Given the description of an element on the screen output the (x, y) to click on. 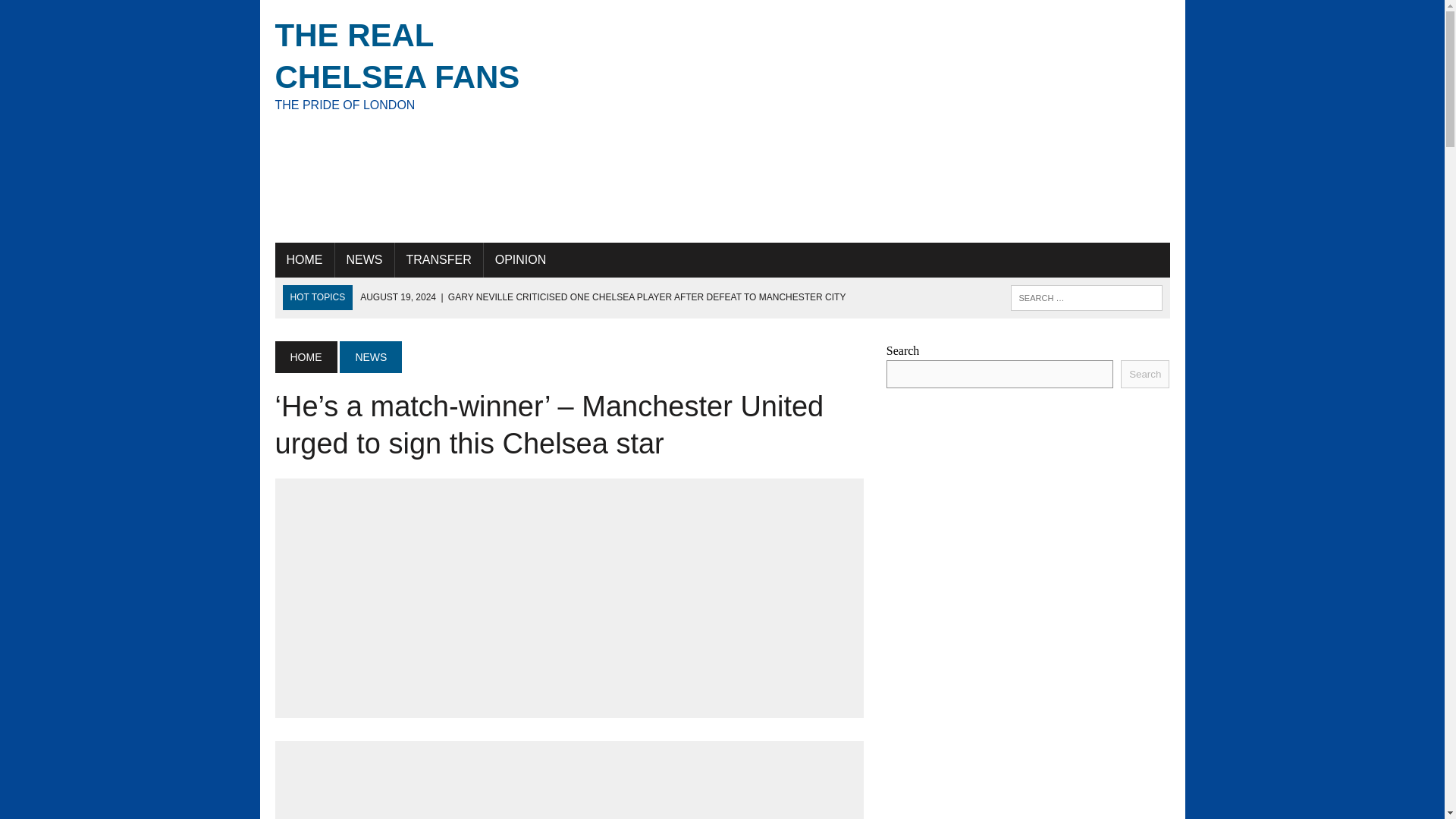
Advertisement (569, 598)
The Real Chelsea Fans (416, 64)
Advertisement (875, 121)
Advertisement (569, 786)
Search (75, 14)
Search (1145, 374)
HOME (416, 64)
NEWS (305, 357)
